Given the description of an element on the screen output the (x, y) to click on. 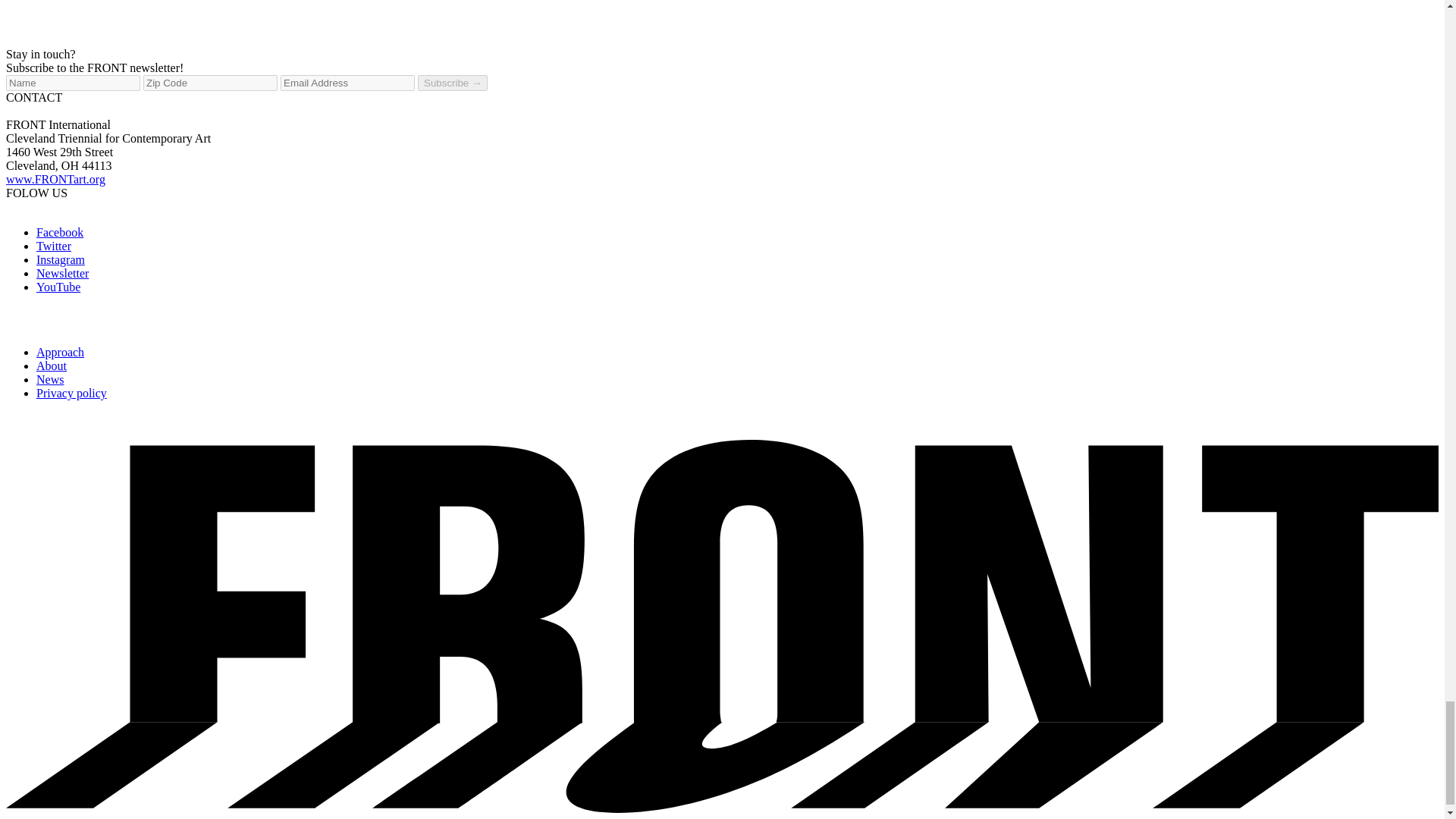
Twitter (53, 245)
www.FRONTart.org (54, 178)
Facebook (59, 232)
